Given the description of an element on the screen output the (x, y) to click on. 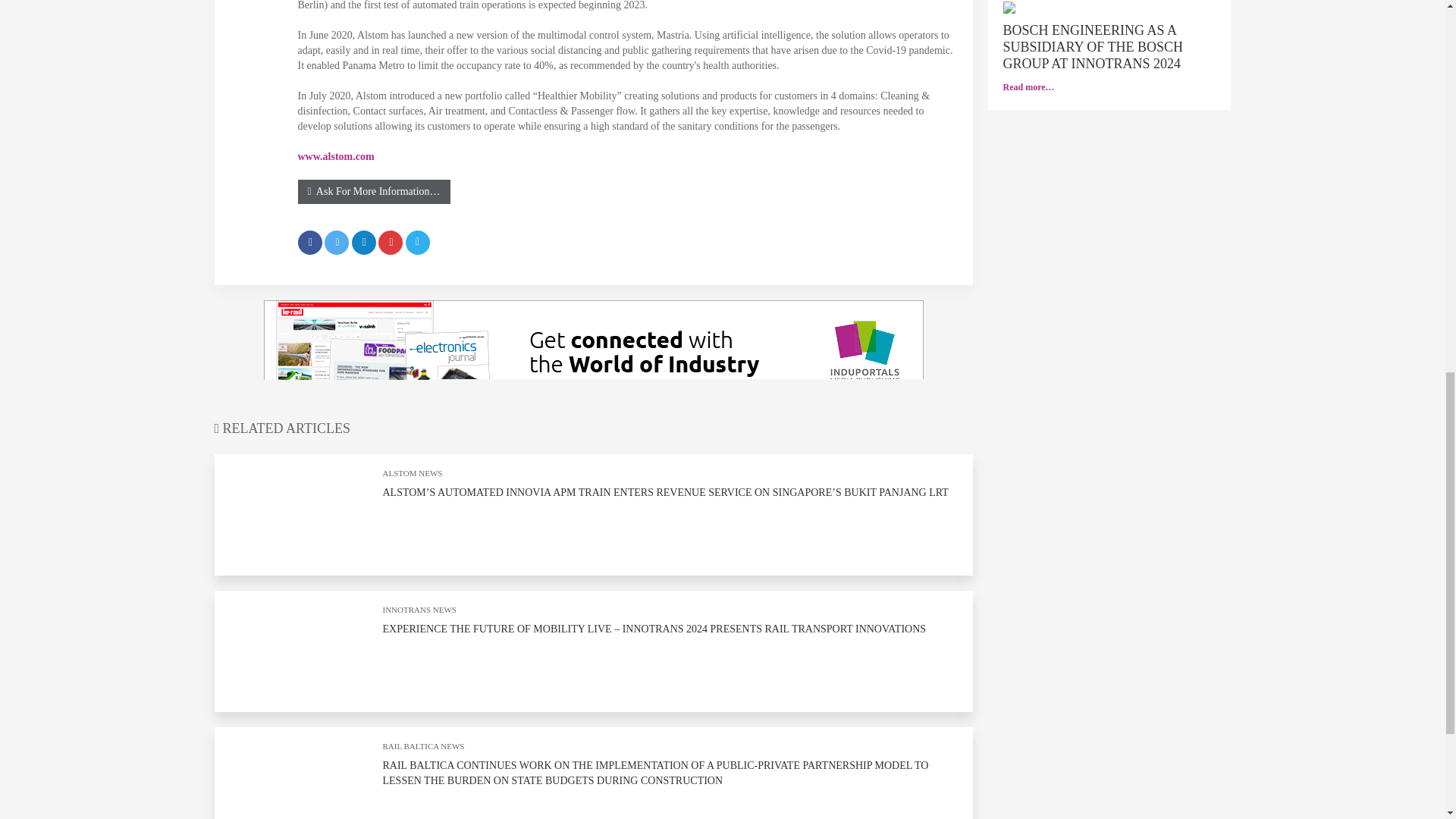
Share on Twitter (336, 242)
Share on Pinterest (390, 242)
Share on LinkedIn (363, 242)
Share on Facebook (309, 242)
www.alstom.com (335, 163)
